Given the description of an element on the screen output the (x, y) to click on. 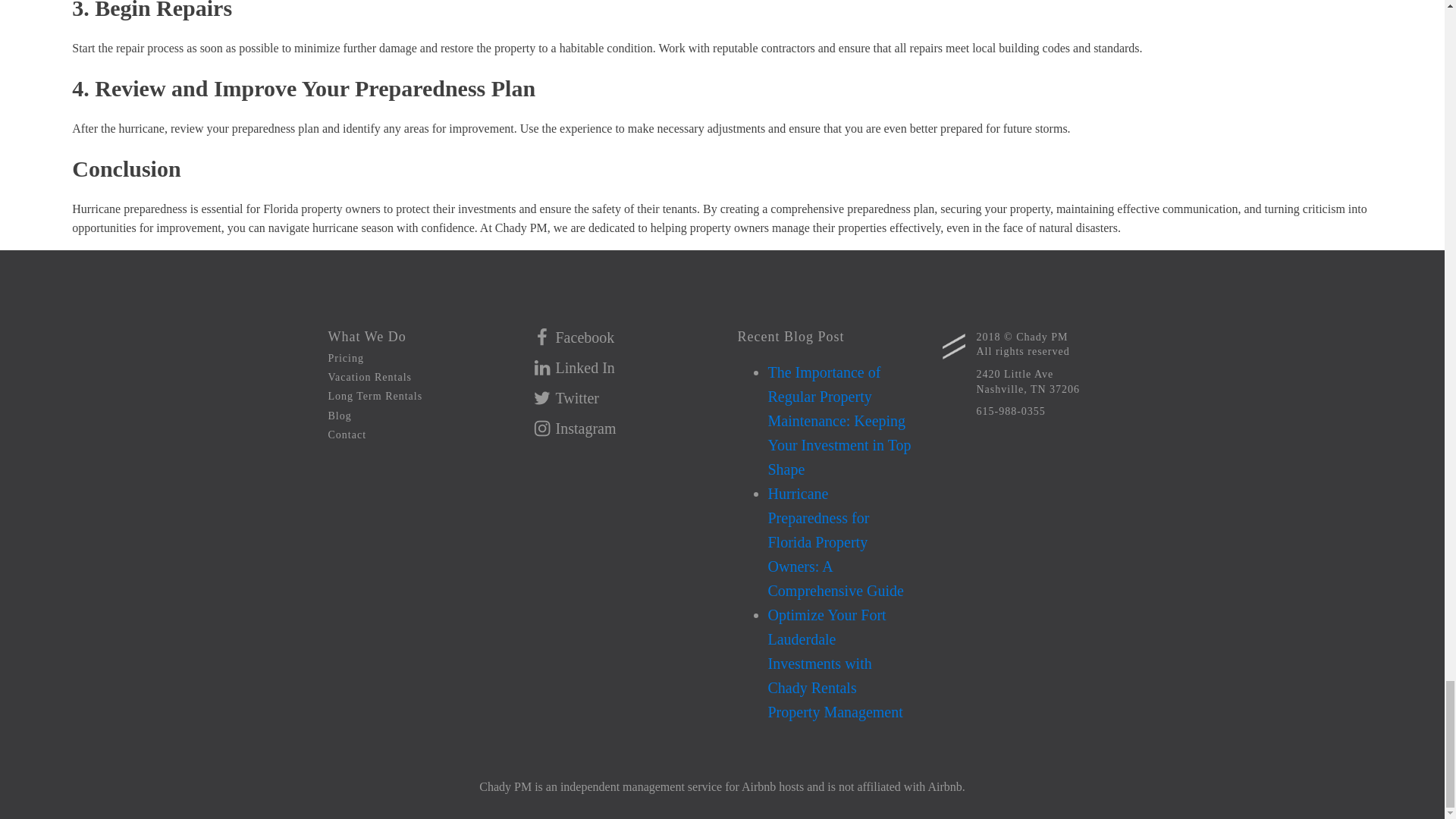
What We Do (366, 333)
Linked In (573, 367)
Twitter (565, 398)
Recent Blog Post (790, 333)
Contact (346, 430)
Instagram (1028, 377)
